Given the description of an element on the screen output the (x, y) to click on. 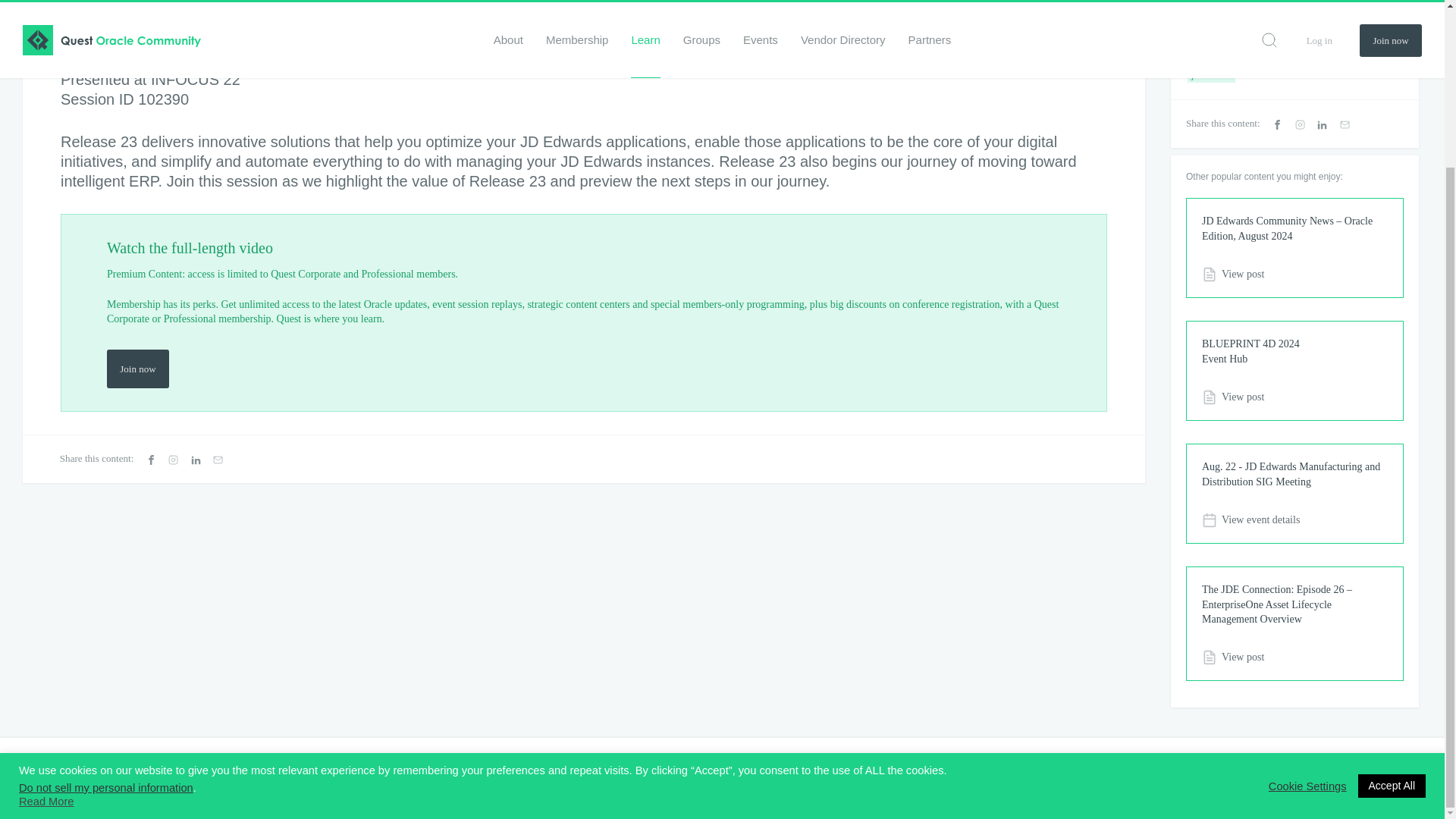
Quest Customer Learning Team (68, 15)
Share (359, 15)
Join now (137, 368)
youtube (1414, 780)
jd-edwards (1211, 74)
Quest Oracle Community (34, 778)
